Given the description of an element on the screen output the (x, y) to click on. 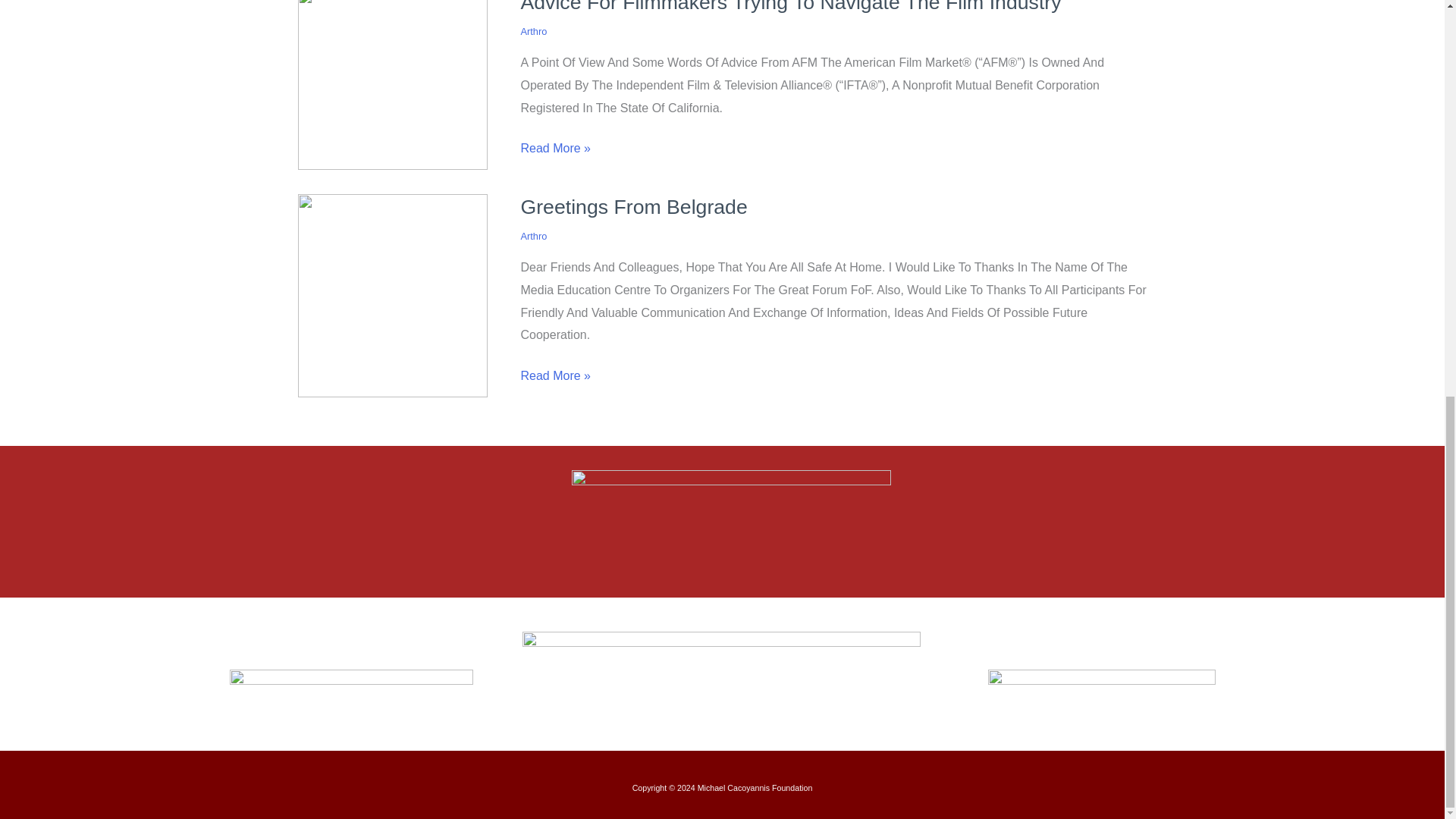
Greetings From Belgrade (632, 206)
Arthro (533, 235)
Arthro (533, 30)
Advice For Filmmakers Trying To Navigate The Film Industry (790, 6)
